Given the description of an element on the screen output the (x, y) to click on. 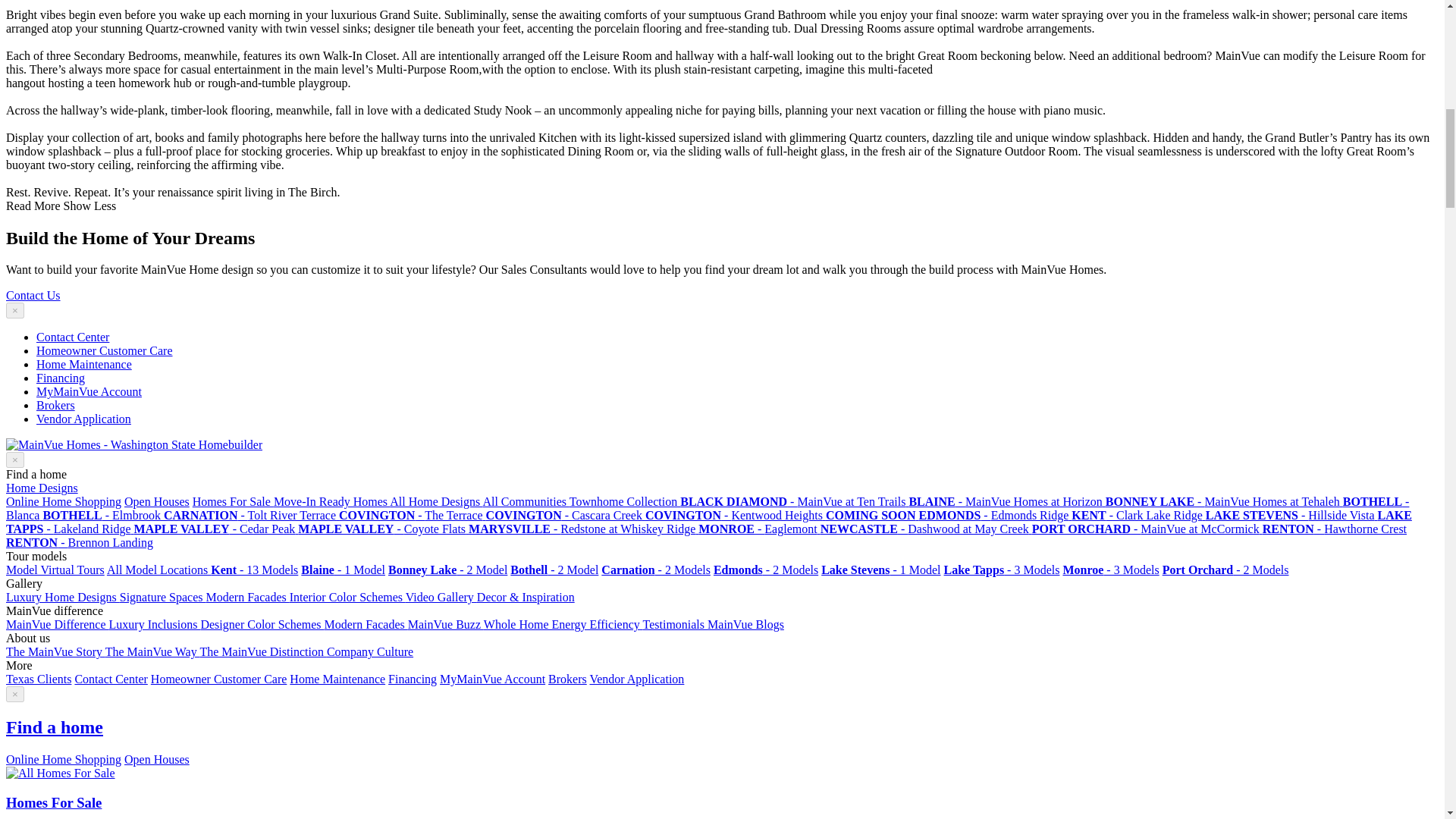
Read More Show Less (60, 205)
Home Maintenance (84, 364)
Homeowner Customer Care (104, 350)
Contact Center (72, 336)
MyMainVue Account (88, 391)
Financing (60, 377)
Contact Us (33, 295)
